Given the description of an element on the screen output the (x, y) to click on. 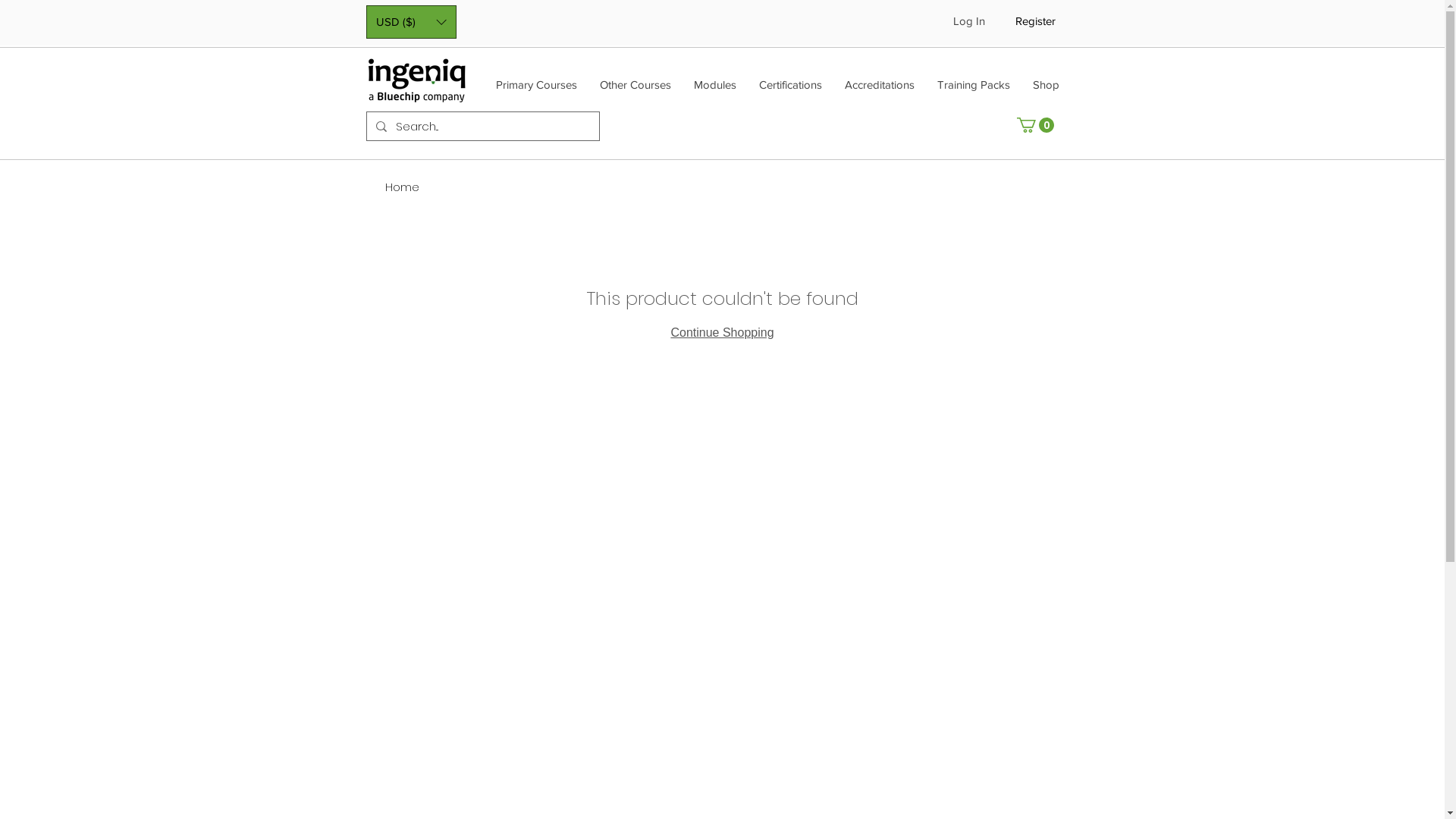
Other Courses Element type: text (635, 89)
Splunk Training Authorised Partner Ingeniq Element type: hover (414, 79)
0 Element type: text (1034, 124)
Log In Element type: text (967, 19)
Accreditations Element type: text (878, 89)
Continue Shopping Element type: text (721, 332)
Training Packs Element type: text (972, 89)
Home Element type: text (402, 186)
Register Element type: text (1034, 20)
Certifications Element type: text (790, 89)
Modules Element type: text (714, 89)
Shop Element type: text (1045, 89)
Primary Courses Element type: text (535, 89)
USD ($) Element type: text (410, 21)
